Given the description of an element on the screen output the (x, y) to click on. 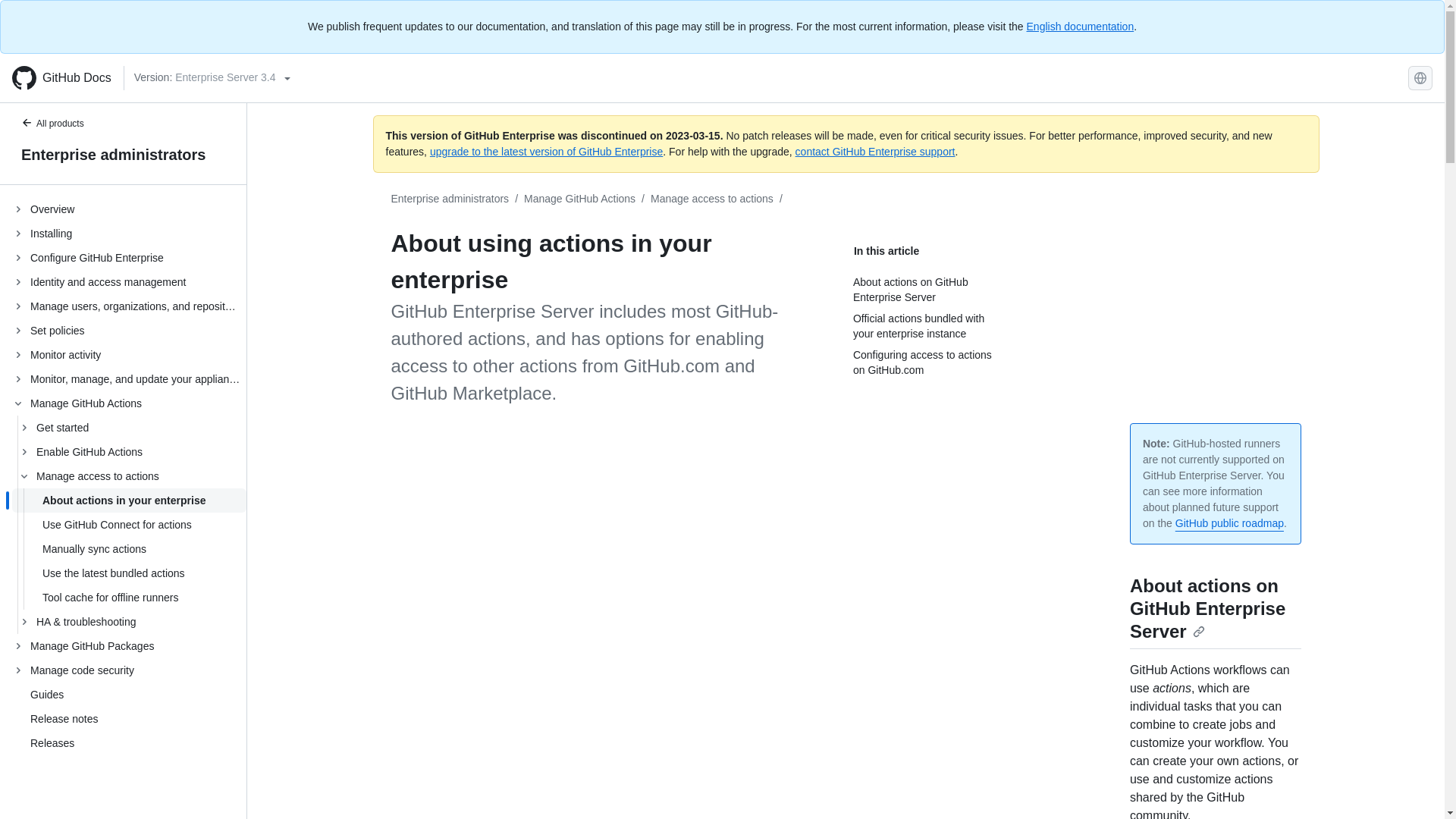
upgrade to the latest version of GitHub Enterprise (545, 151)
Manage GitHub Actions (579, 198)
Tool cache for offline runners (128, 597)
About actions in your enterprise (128, 500)
Use GitHub Connect for actions (128, 524)
2023-03-15 (692, 135)
GitHub public roadmap (1229, 522)
Guides (47, 694)
Manage access to actions (711, 198)
Manually sync actions (128, 549)
Releases (52, 743)
About actions on GitHub Enterprise Server (1207, 608)
Use the latest bundled actions (128, 573)
Official actions bundled with your enterprise instance (928, 325)
Enterprise administrators (450, 198)
